Given the description of an element on the screen output the (x, y) to click on. 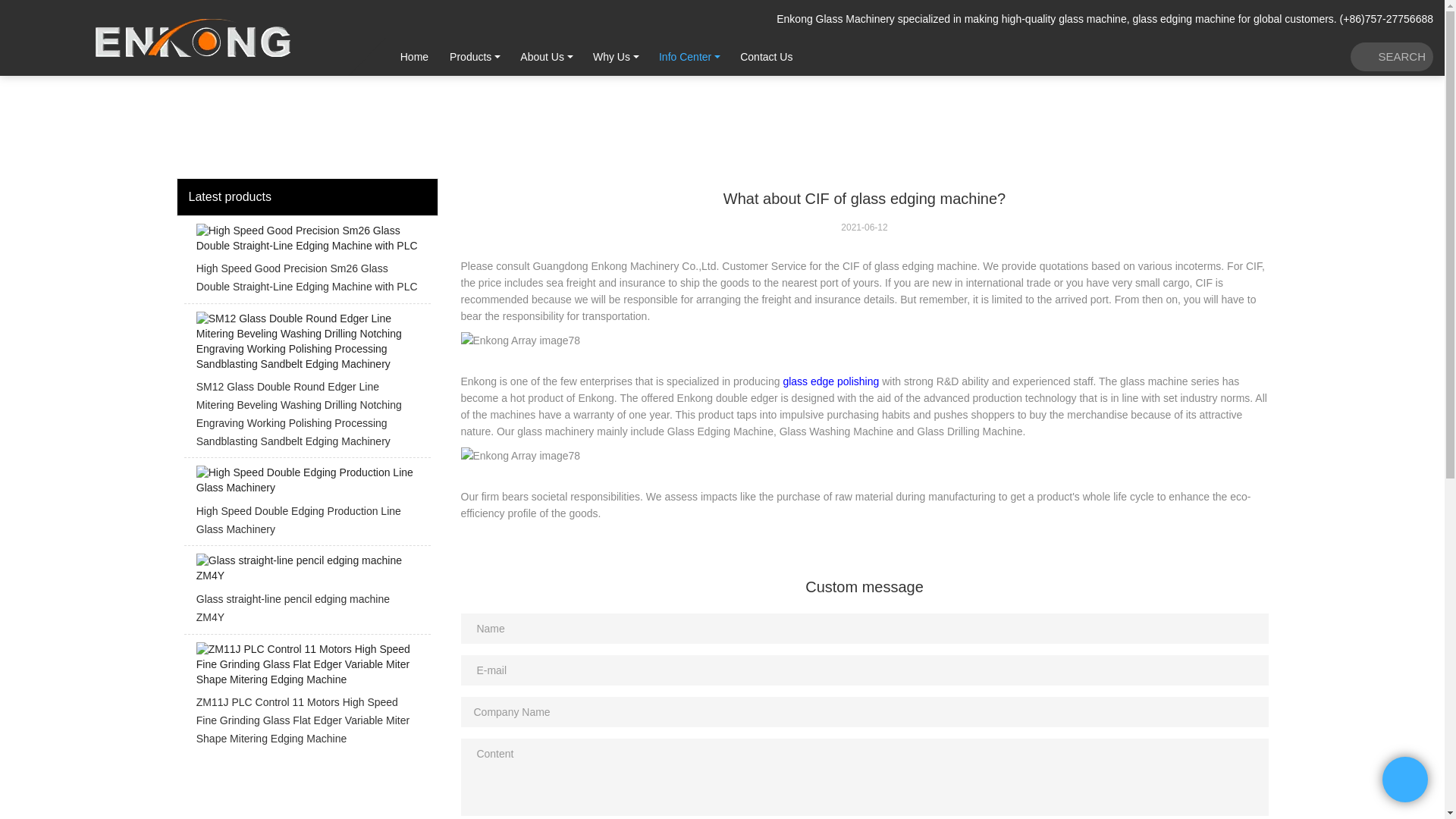
About Us (542, 56)
Why Us (611, 56)
Contact Us (766, 56)
High Speed Double Edging Production Line Glass Machinery (306, 505)
Glass straight-line pencil edging machine ZM4Y (306, 593)
Info Center (684, 56)
Products (470, 56)
